Given the description of an element on the screen output the (x, y) to click on. 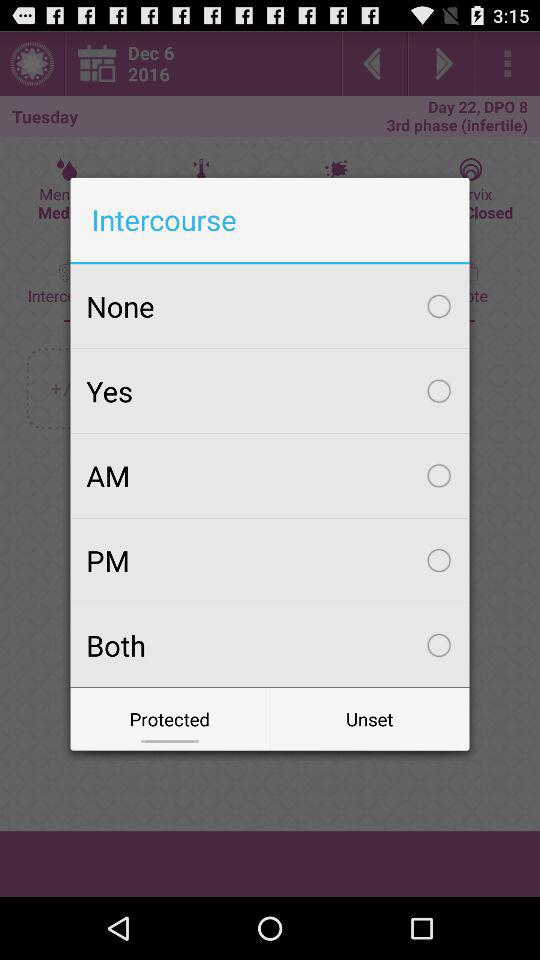
choose pm icon (269, 560)
